Given the description of an element on the screen output the (x, y) to click on. 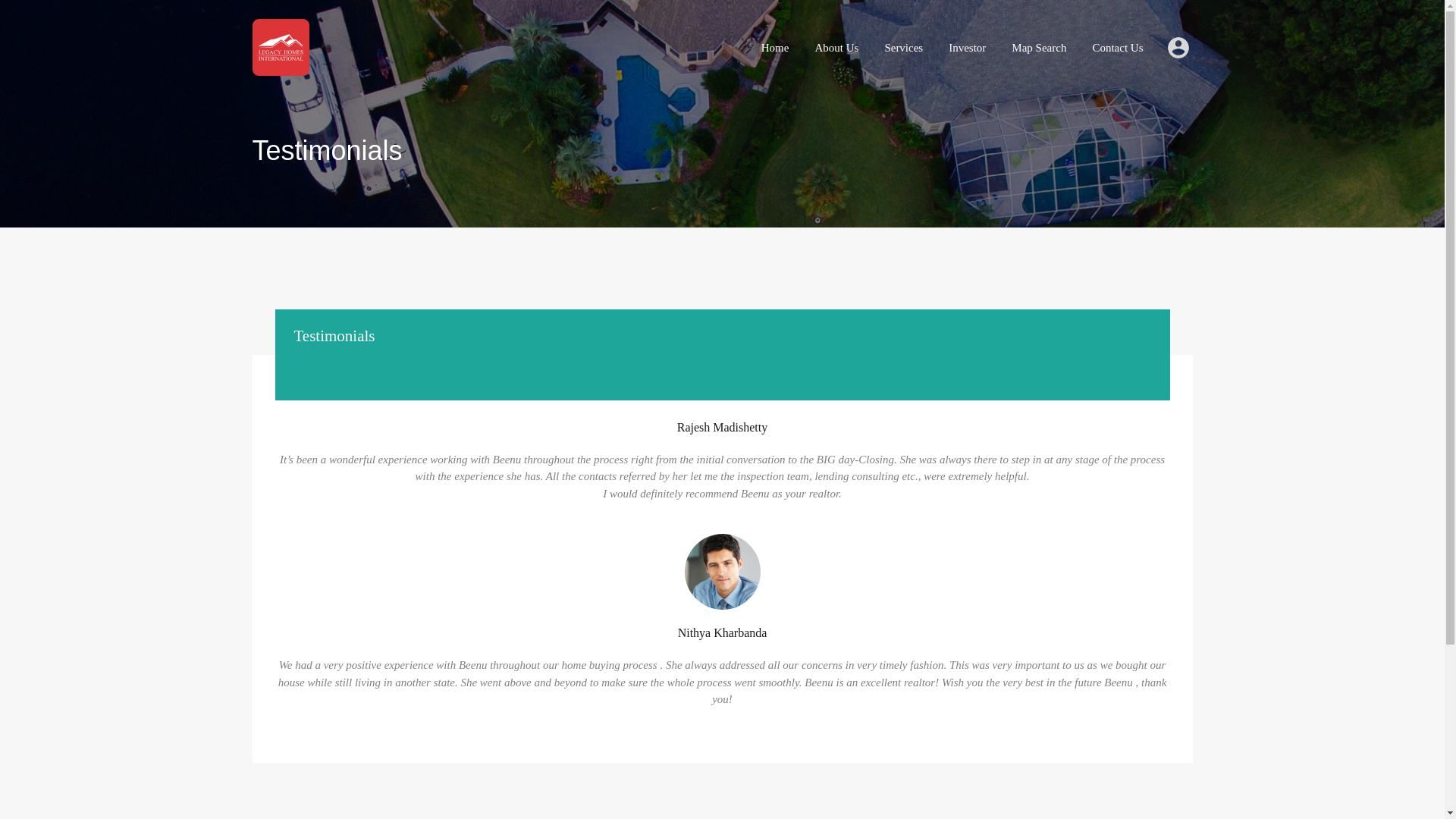
Services (903, 47)
About Us (836, 47)
Home (775, 47)
